Given the description of an element on the screen output the (x, y) to click on. 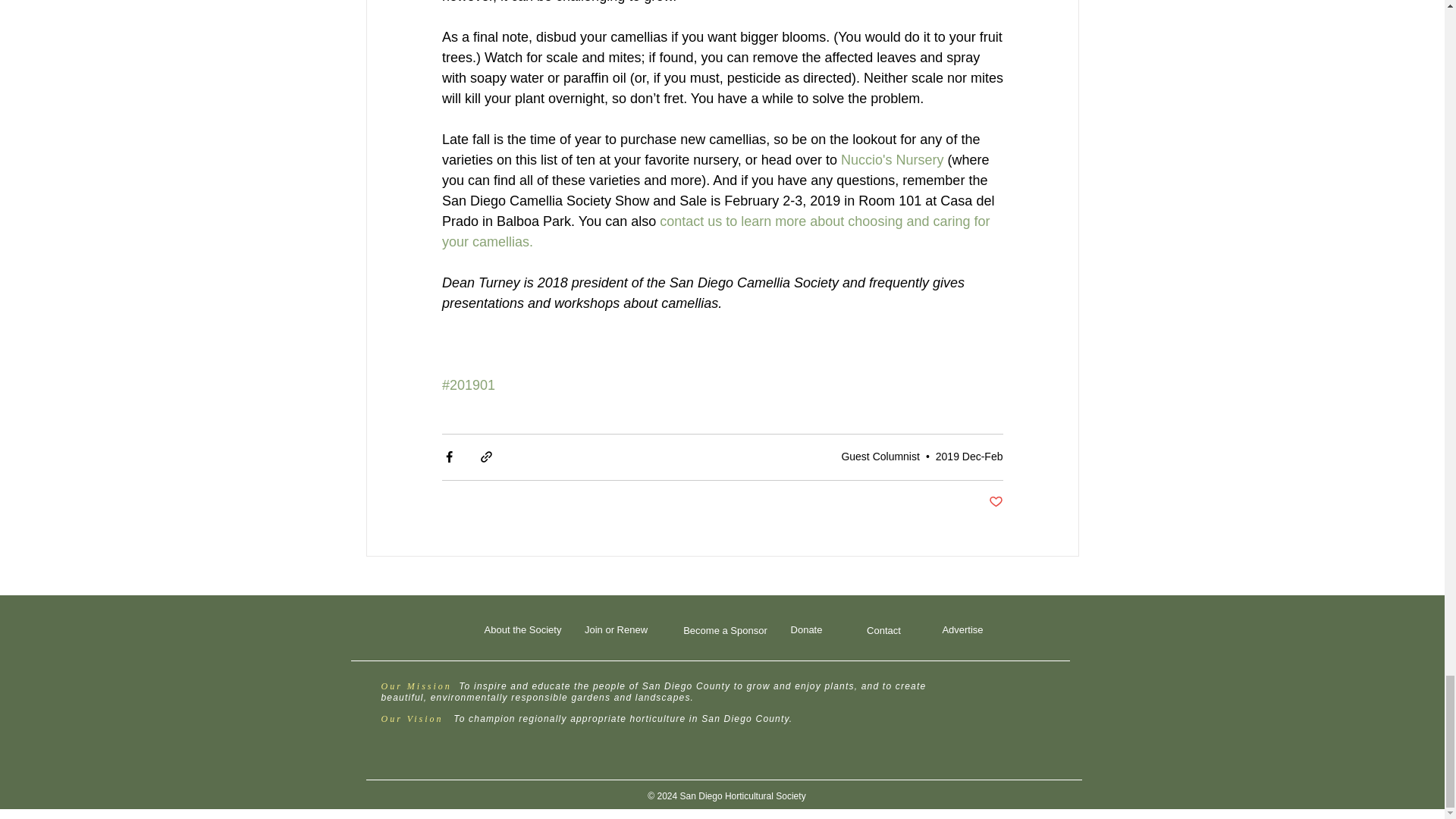
Post not marked as liked (995, 502)
Become a Sponsor (724, 630)
About the Society (522, 630)
Join or Renew (615, 630)
Nuccio's Nursery (891, 159)
Donate (805, 630)
contact us (690, 221)
Guest Columnist (879, 456)
Contact (882, 630)
2019 Dec-Feb (969, 456)
 to learn more about choosing and caring for your camellias. (716, 231)
Advertise (961, 630)
